Given the description of an element on the screen output the (x, y) to click on. 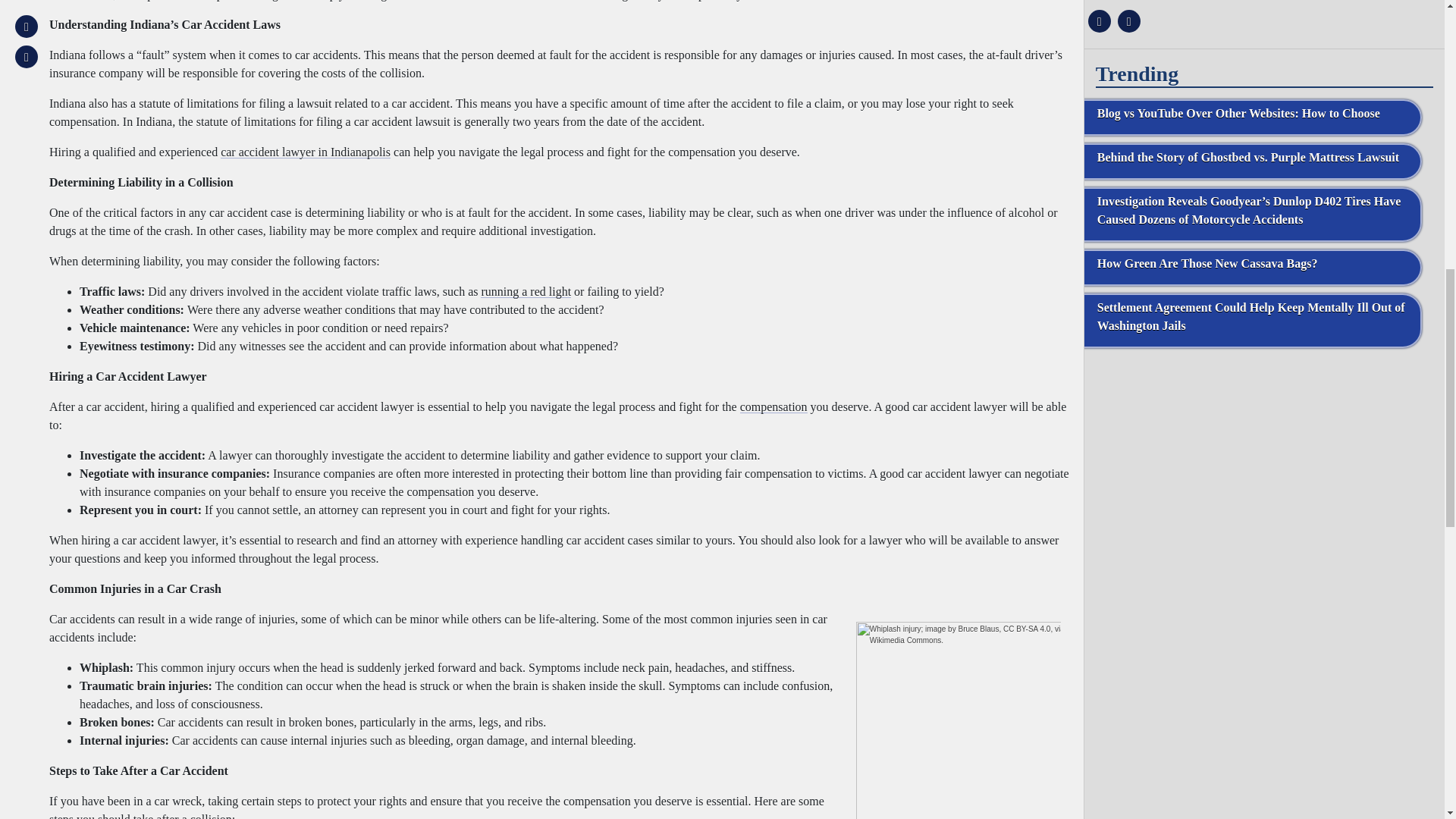
car accident lawyer in Indianapolis (305, 151)
compensation (773, 406)
running a red light (525, 291)
